Given the description of an element on the screen output the (x, y) to click on. 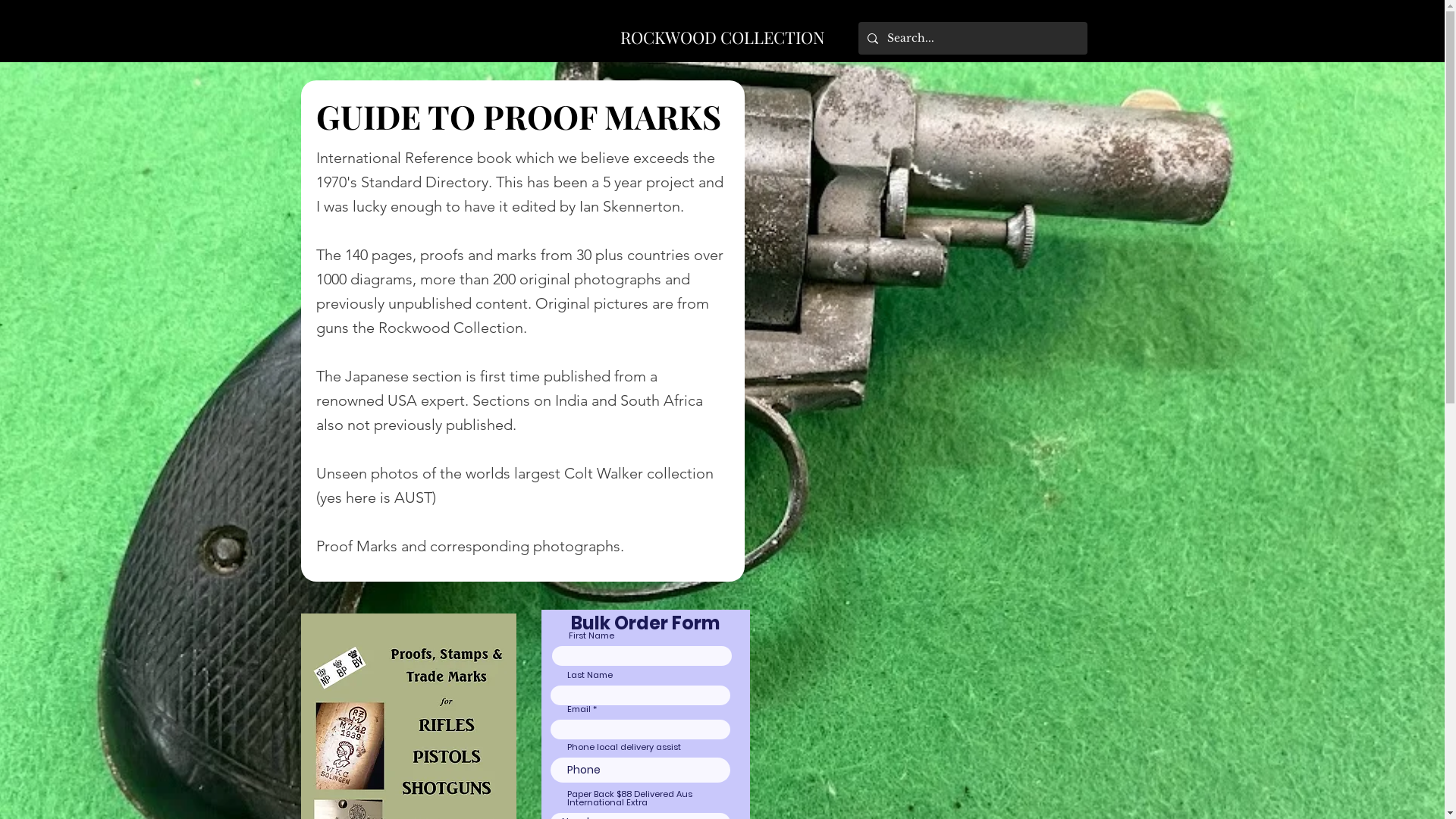
ROCKWOOD COLLECTION Element type: text (722, 36)
